Given the description of an element on the screen output the (x, y) to click on. 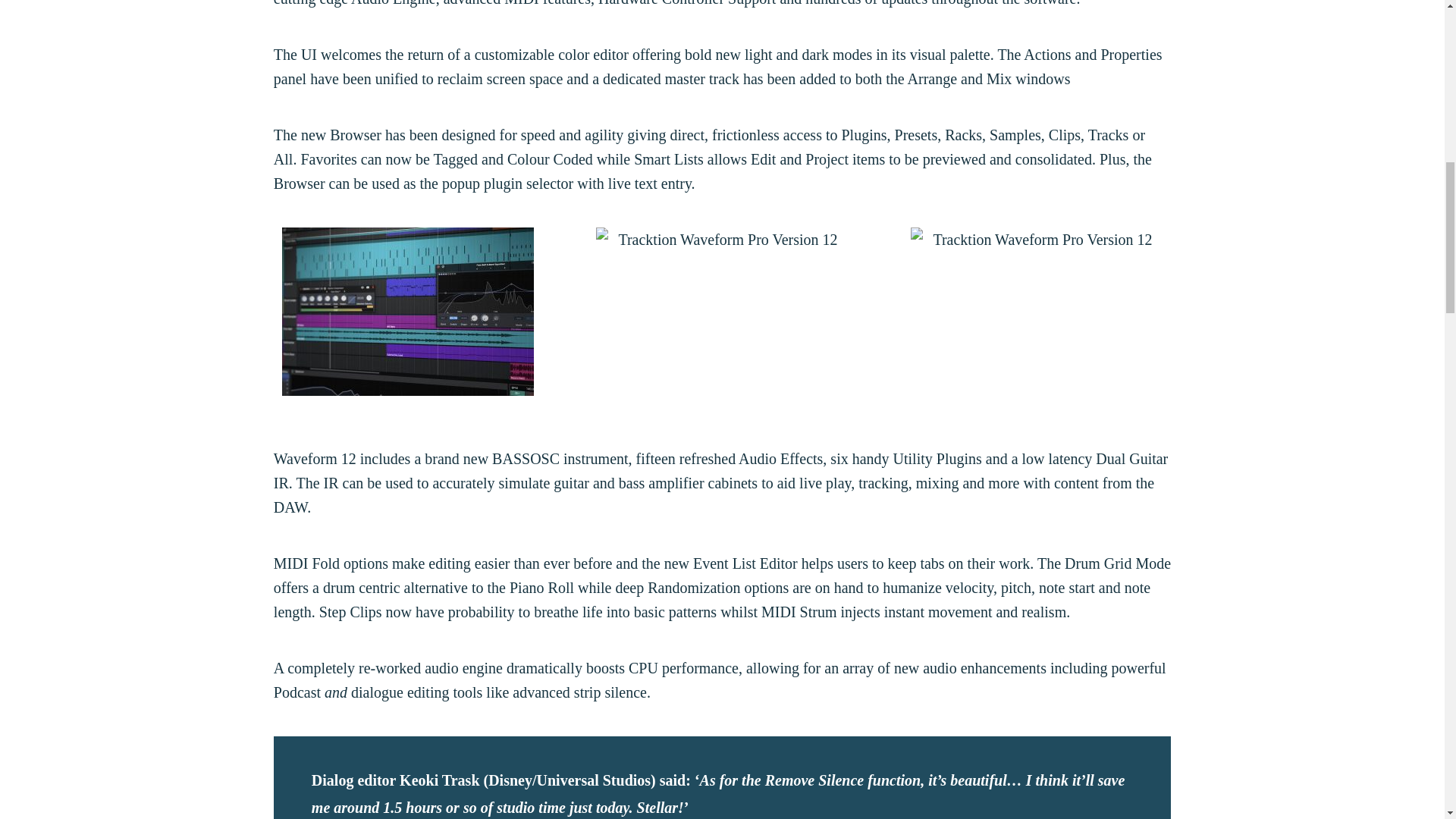
Tracktion Waveform Pro Version 12 (408, 311)
Tracktion Waveform Pro Version 12 (1036, 311)
Tracktion Waveform Pro Version 12 (722, 311)
Add comment (1109, 37)
